Given the description of an element on the screen output the (x, y) to click on. 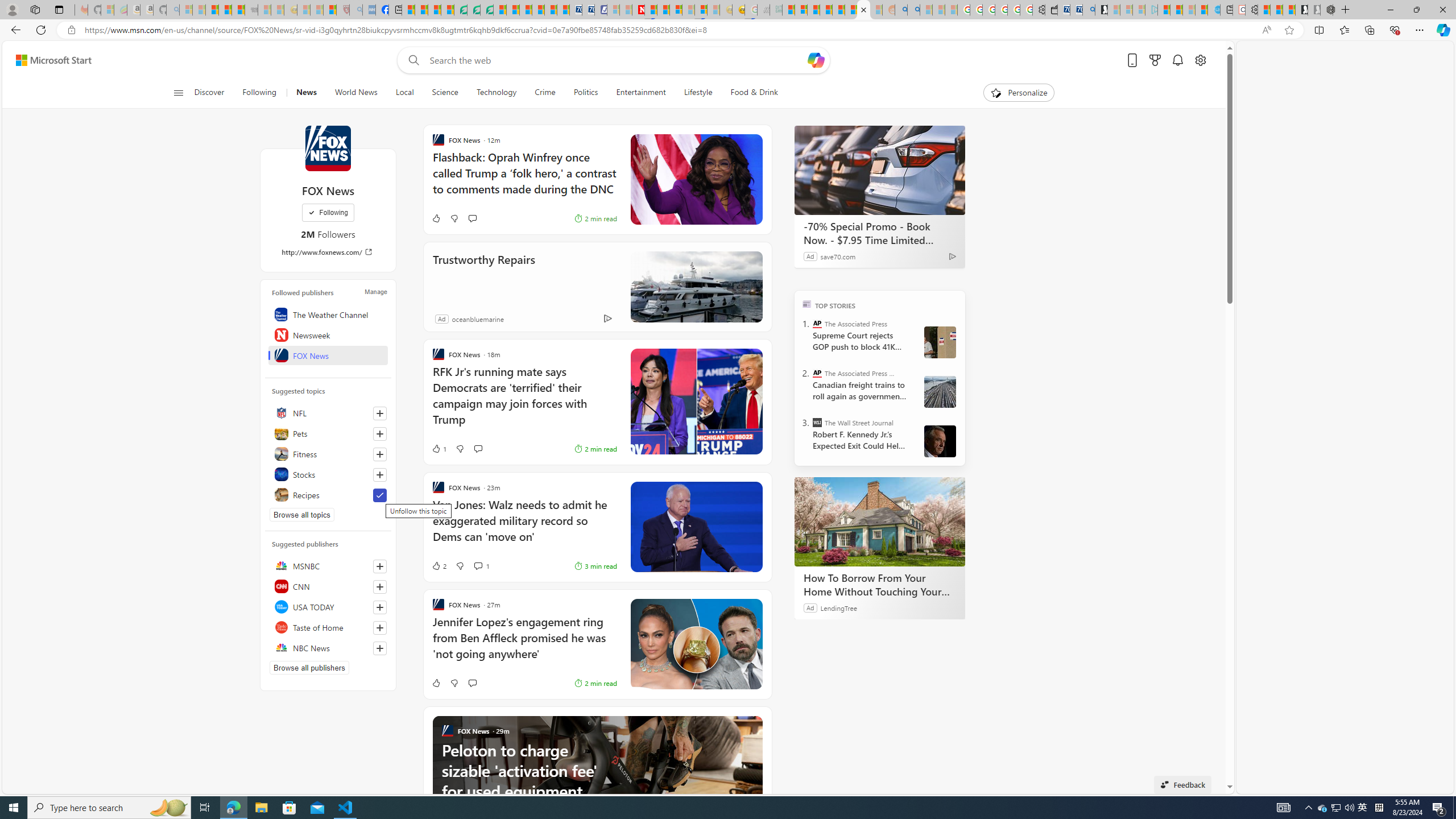
Trustworthy RepairsAdoceanbluemarine (596, 286)
